Given the description of an element on the screen output the (x, y) to click on. 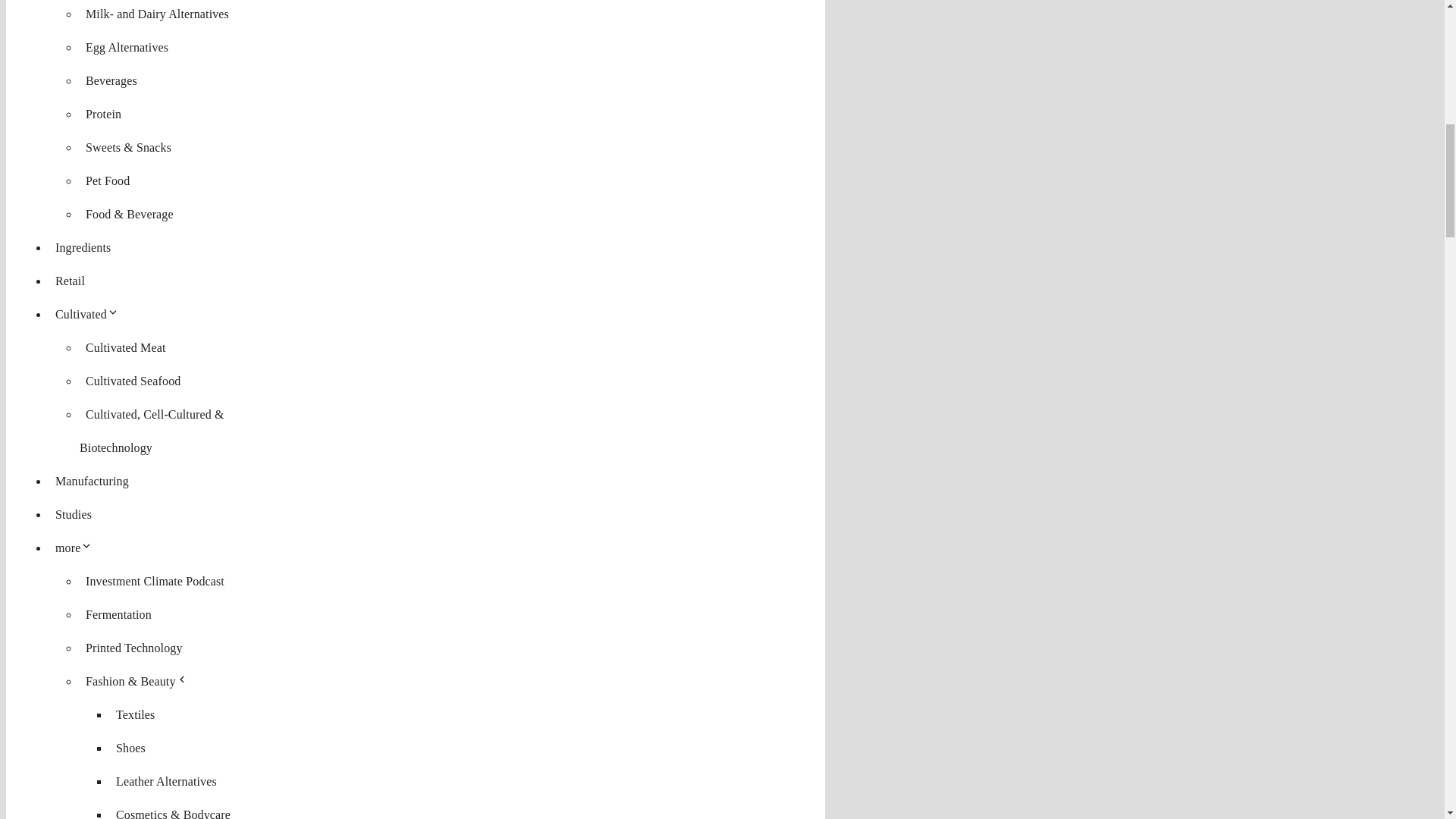
Studies (73, 513)
Ingredients (82, 246)
Manufacturing (92, 481)
Fermentation (118, 614)
Protein (104, 114)
Printed Technology (134, 648)
more (76, 547)
Cultivated (90, 314)
Cultivated Meat (125, 347)
Cultivated Seafood (133, 381)
